Given the description of an element on the screen output the (x, y) to click on. 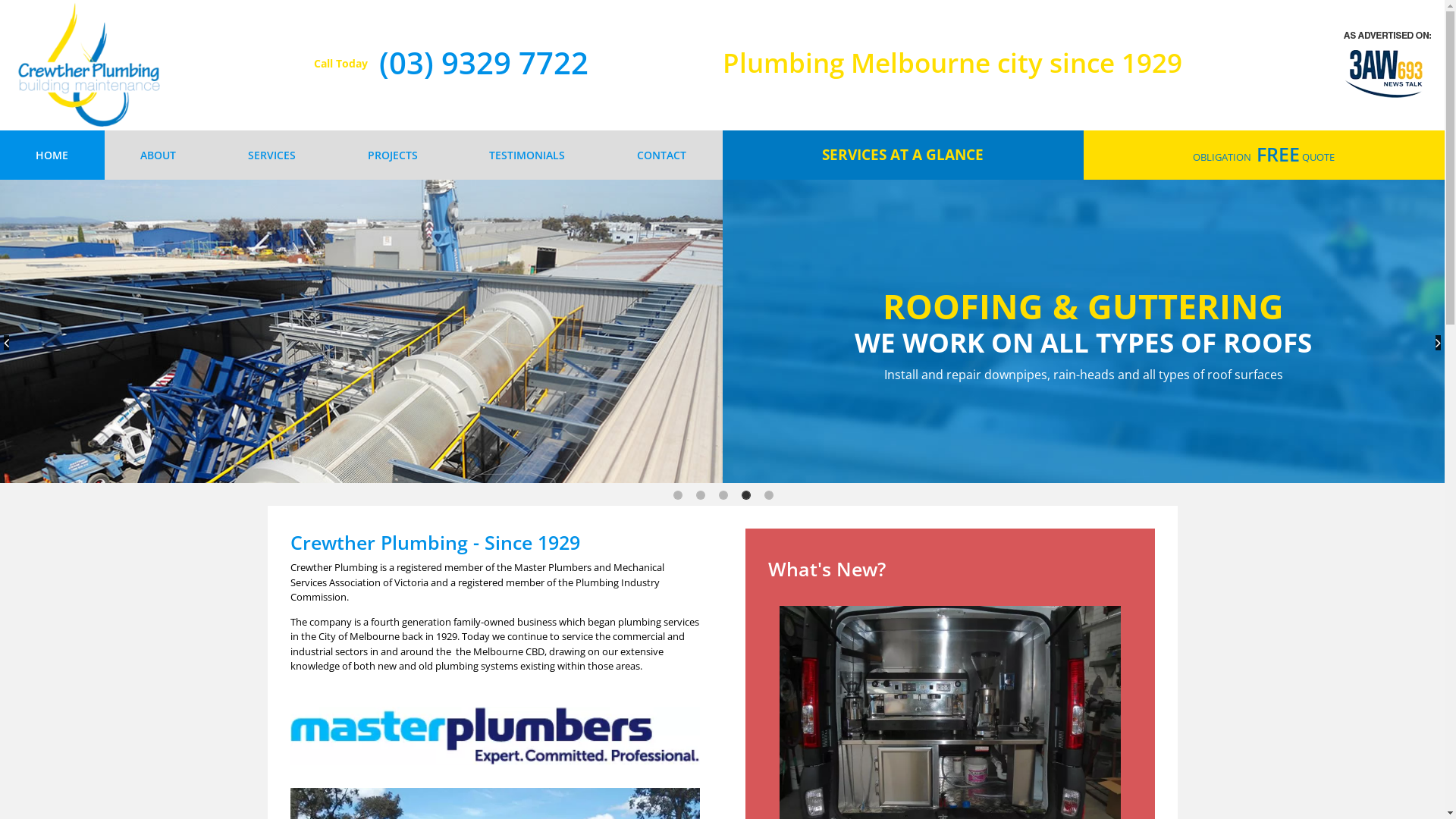
4 Element type: text (745, 493)
2 Element type: text (700, 493)
3 Element type: text (723, 493)
SERVICES AT A GLANCE Element type: text (902, 155)
1 Element type: text (677, 493)
CONTACT Element type: text (661, 154)
SERVICES Element type: text (272, 154)
5 Element type: text (768, 493)
ABOUT Element type: text (158, 154)
(03) 9329 7722 Element type: text (483, 62)
PROJECTS Element type: text (392, 154)
TESTIMONIALS Element type: text (527, 154)
HOME Element type: text (52, 154)
